Given the description of an element on the screen output the (x, y) to click on. 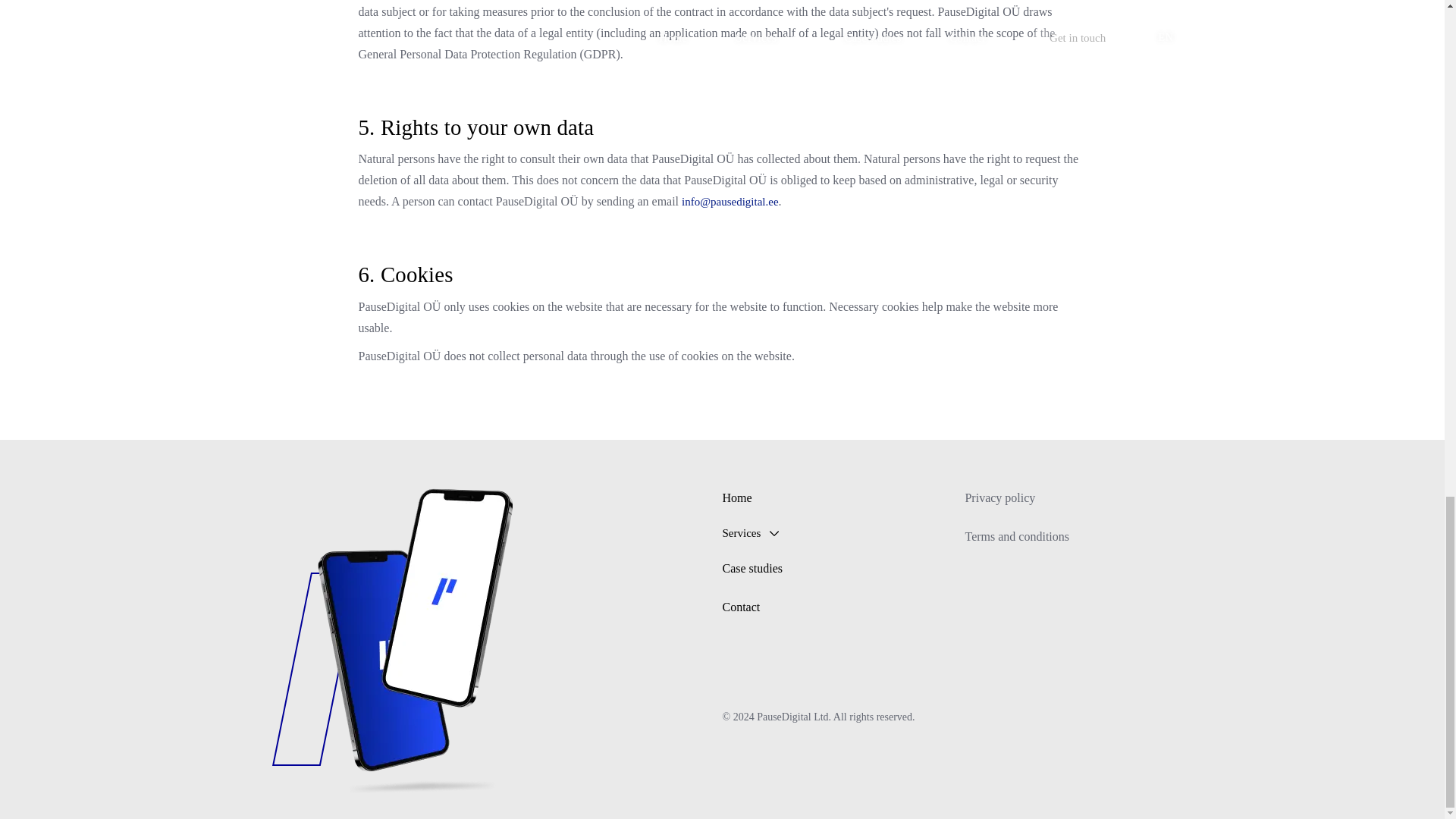
Terms and conditions (1015, 537)
Home (736, 497)
Contact (741, 607)
Case studies (752, 568)
Privacy policy (999, 497)
